Given the description of an element on the screen output the (x, y) to click on. 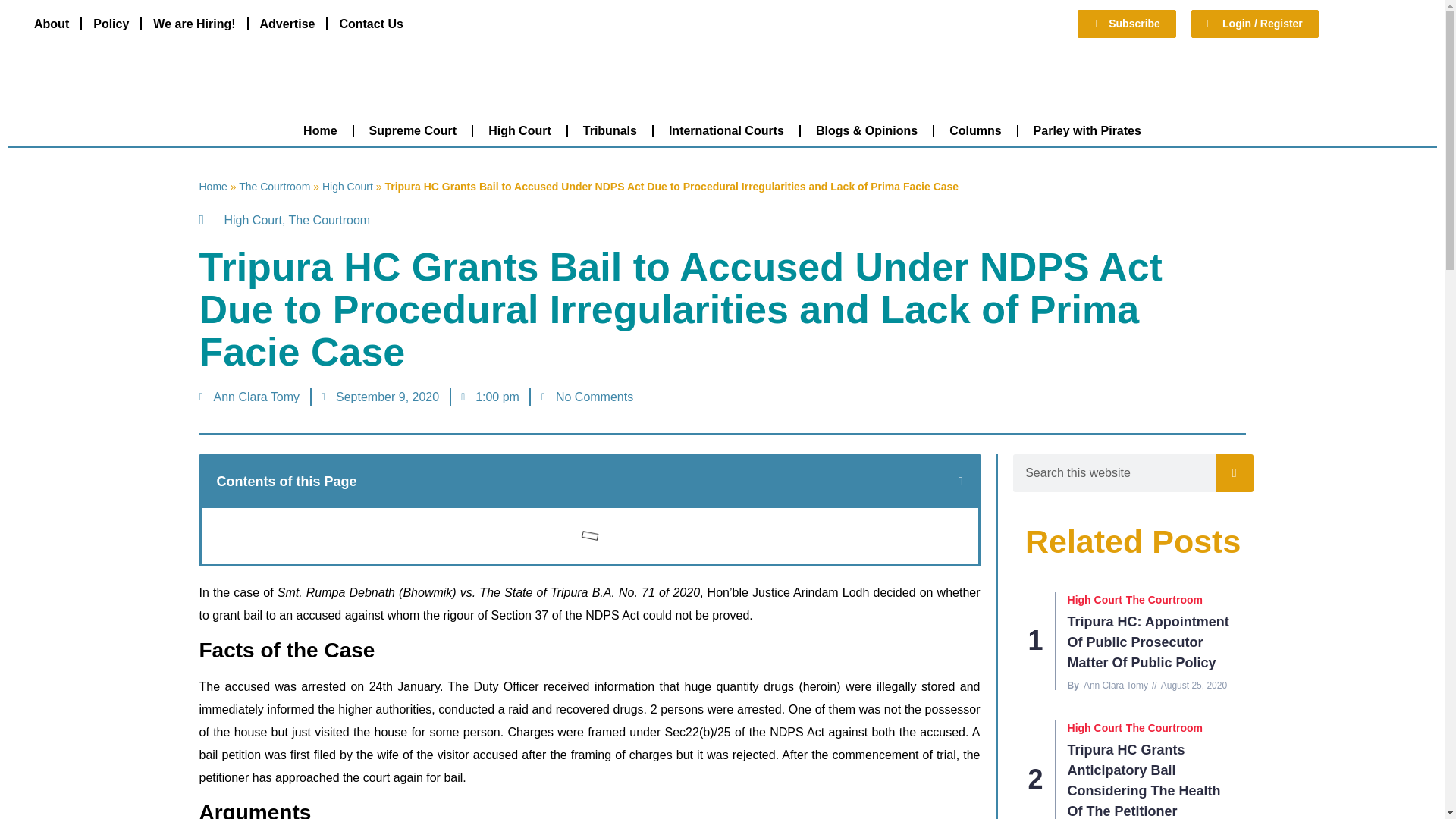
Home (320, 130)
High Court (346, 186)
High Court (519, 130)
The Courtroom (274, 186)
Subscribe (1126, 23)
Policy (110, 22)
International Courts (726, 130)
High Court (253, 219)
Supreme Court (412, 130)
